Given the description of an element on the screen output the (x, y) to click on. 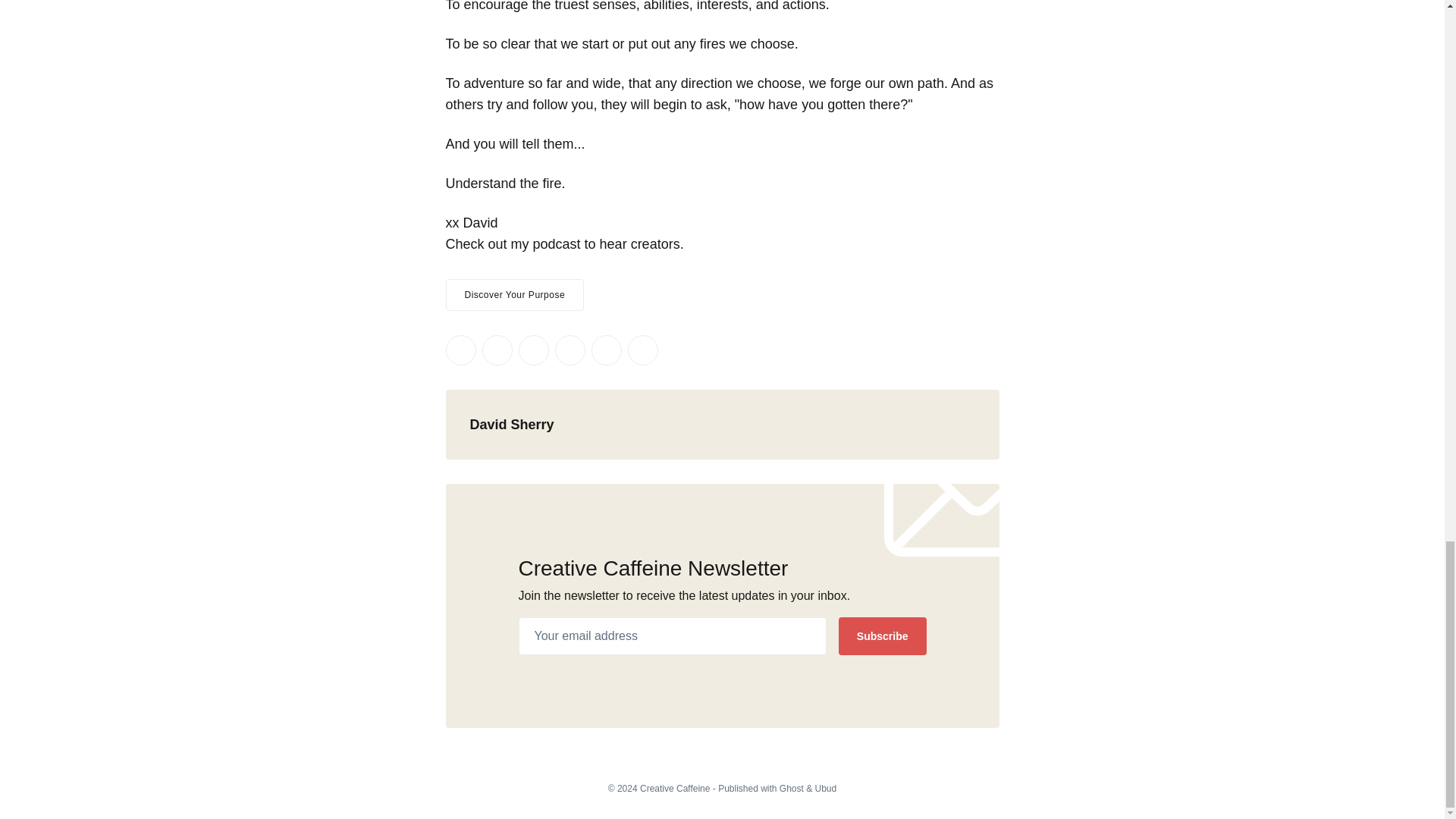
Share on LinkedIn (533, 349)
Discover Your Purpose (515, 295)
Subscribe (882, 636)
Share on Facebook (496, 349)
David Sherry (512, 424)
Share on Pinterest (569, 349)
Share via Email (606, 349)
Ghost (790, 787)
Copy link (642, 349)
Ubud (826, 787)
Share on Twitter (460, 349)
